Given the description of an element on the screen output the (x, y) to click on. 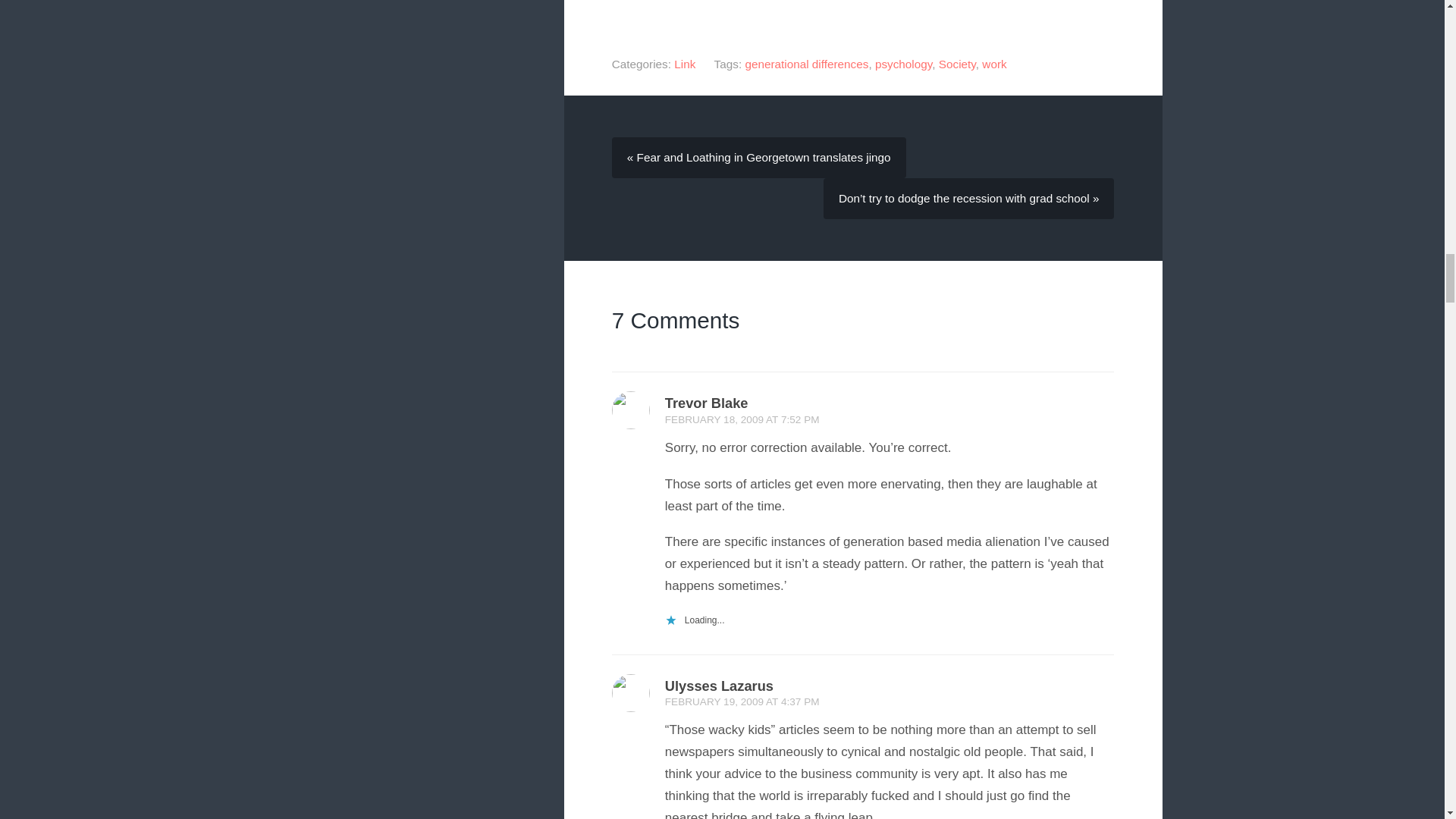
Trevor Blake (706, 402)
generational differences (805, 63)
Society (957, 63)
FEBRUARY 18, 2009 AT 7:52 PM (742, 419)
FEBRUARY 19, 2009 AT 4:37 PM (742, 701)
Ulysses Lazarus (719, 685)
psychology (903, 63)
work (993, 63)
Link (684, 63)
